Given the description of an element on the screen output the (x, y) to click on. 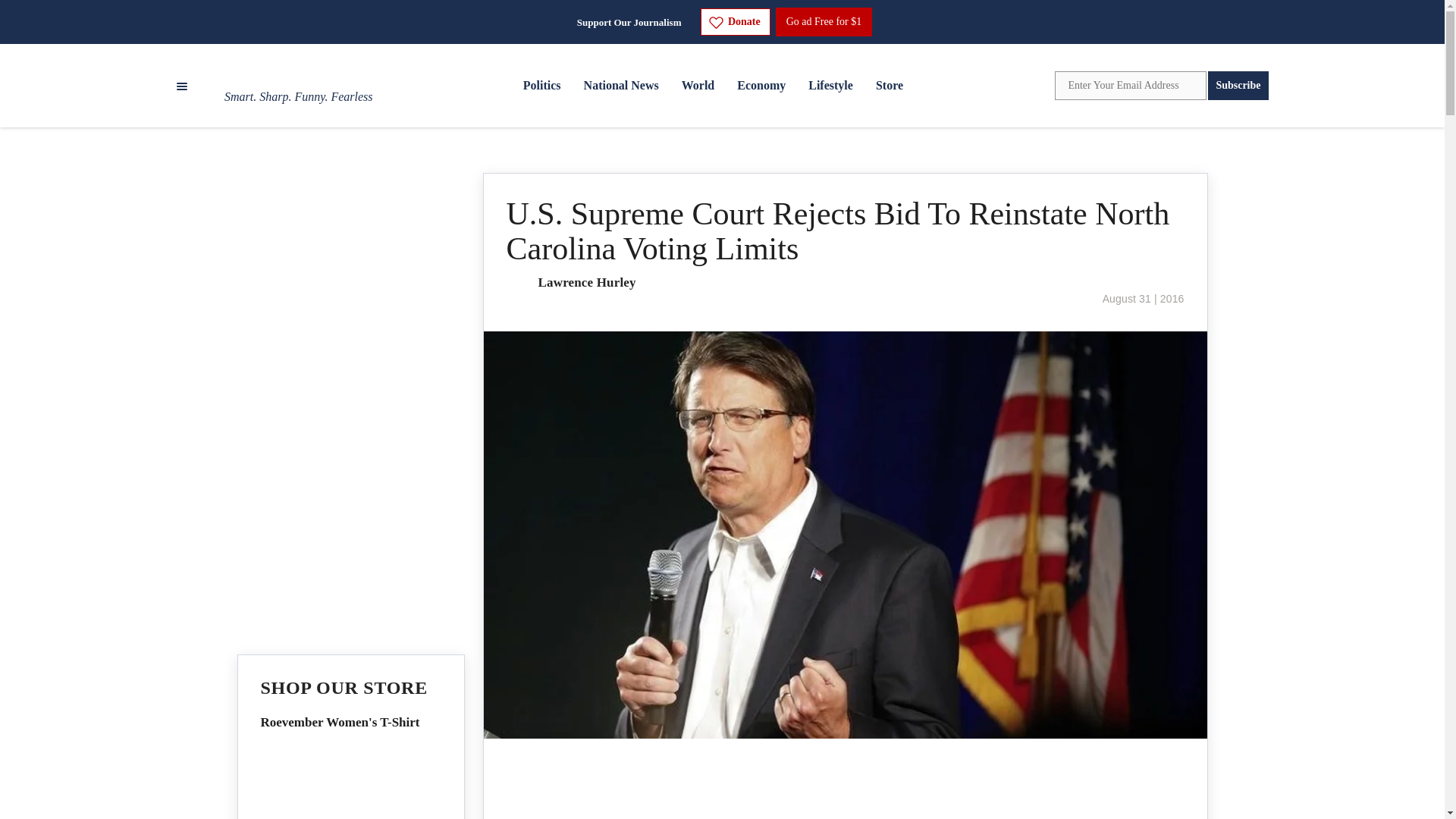
Subscribe (1238, 85)
